Given the description of an element on the screen output the (x, y) to click on. 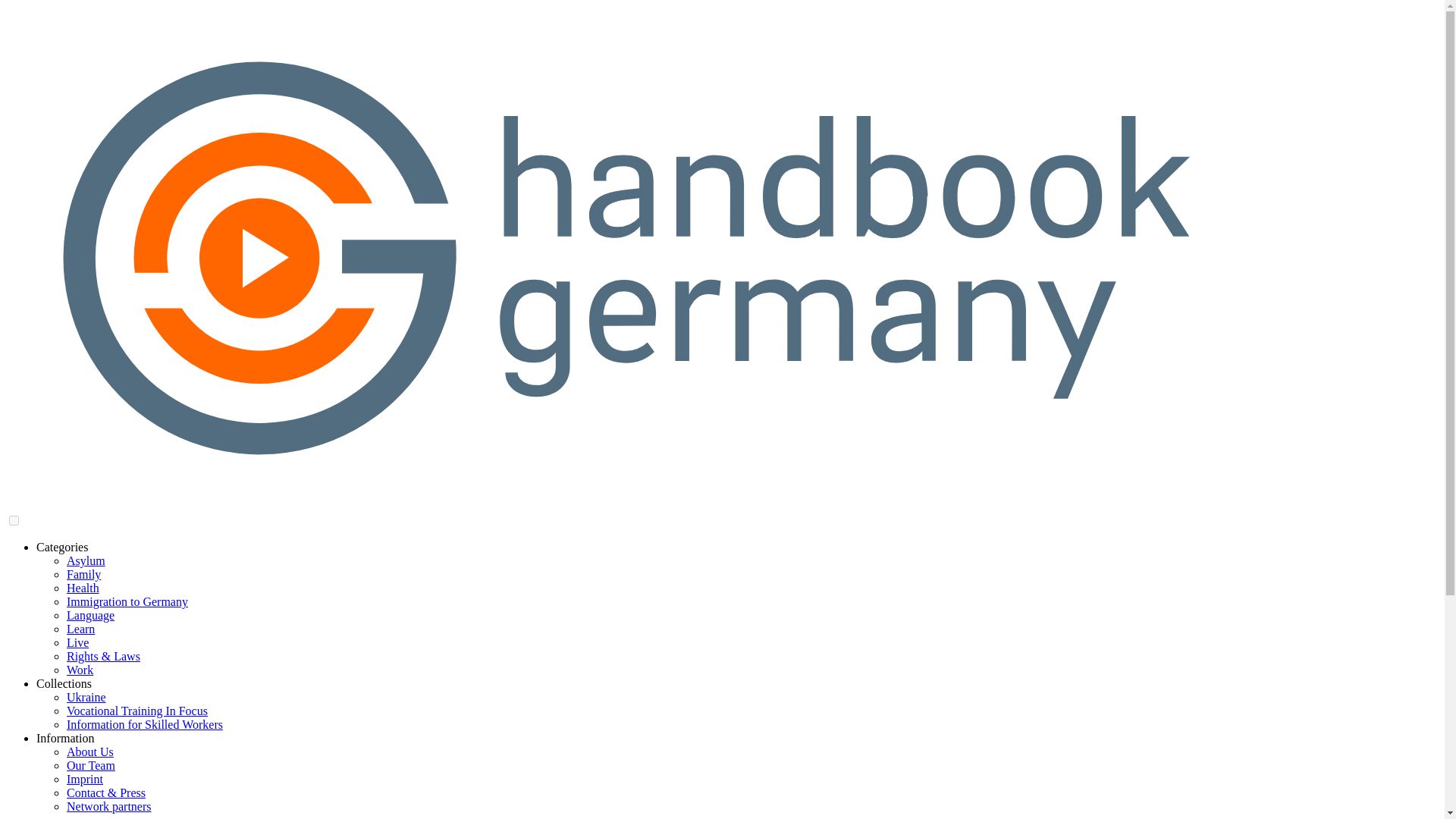
Language (90, 615)
on (13, 520)
Work (79, 669)
Immigration to Germany (126, 601)
Ukraine (86, 697)
Family (83, 574)
Live (77, 642)
Information for Skilled Workers (144, 724)
Vocational Training In Focus (137, 710)
